Given the description of an element on the screen output the (x, y) to click on. 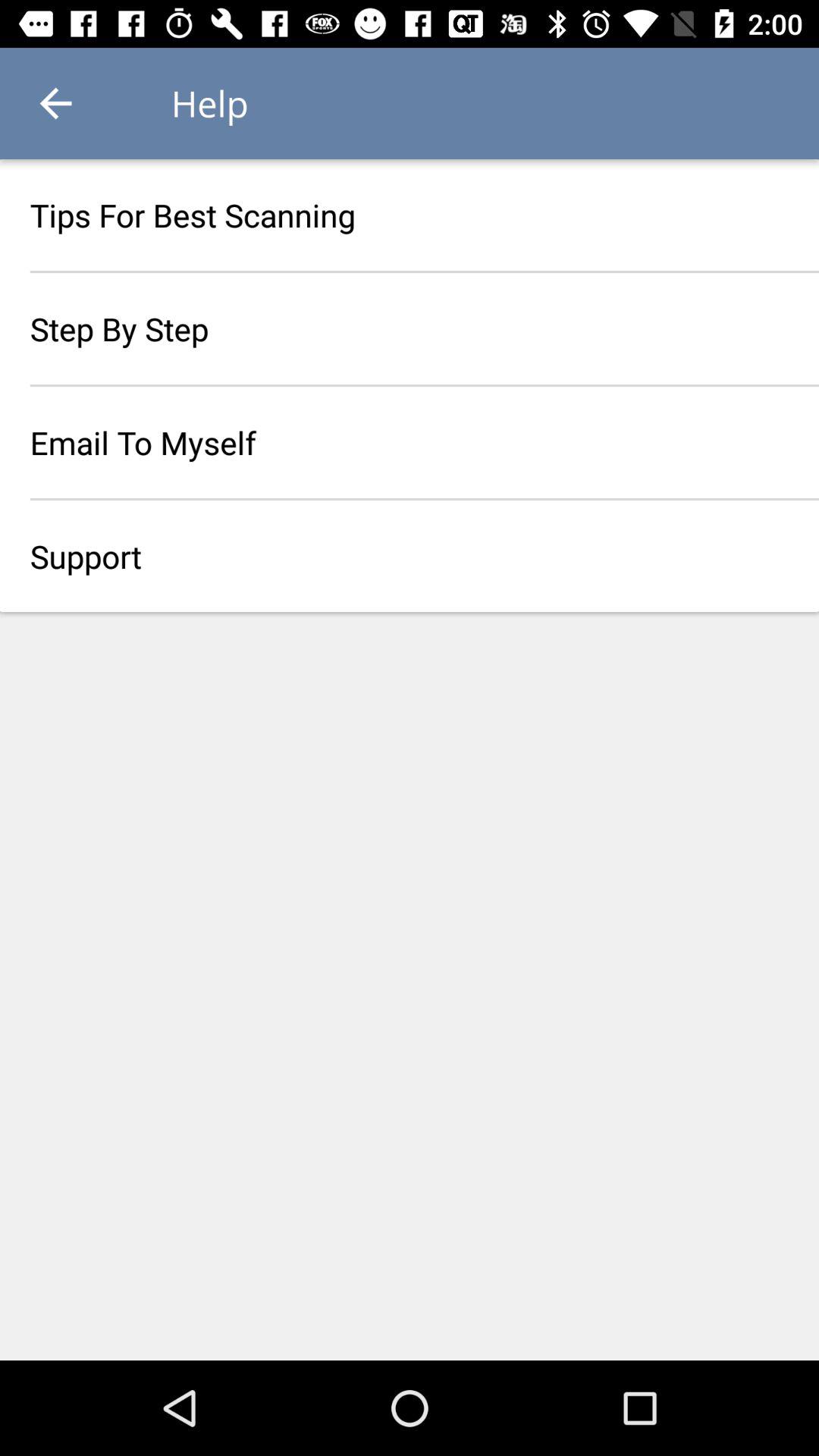
launch the icon below the email to myself item (409, 555)
